Given the description of an element on the screen output the (x, y) to click on. 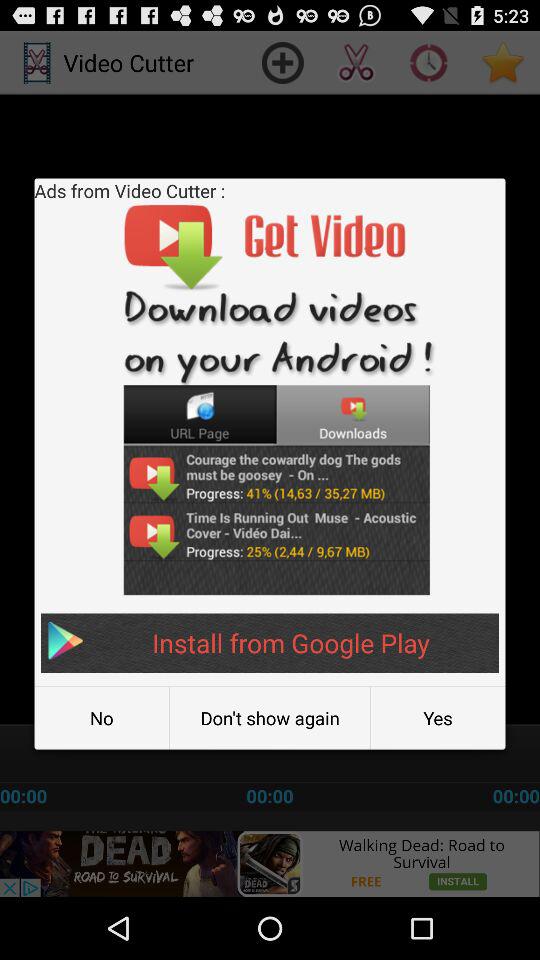
launch the icon at the bottom left corner (101, 717)
